Given the description of an element on the screen output the (x, y) to click on. 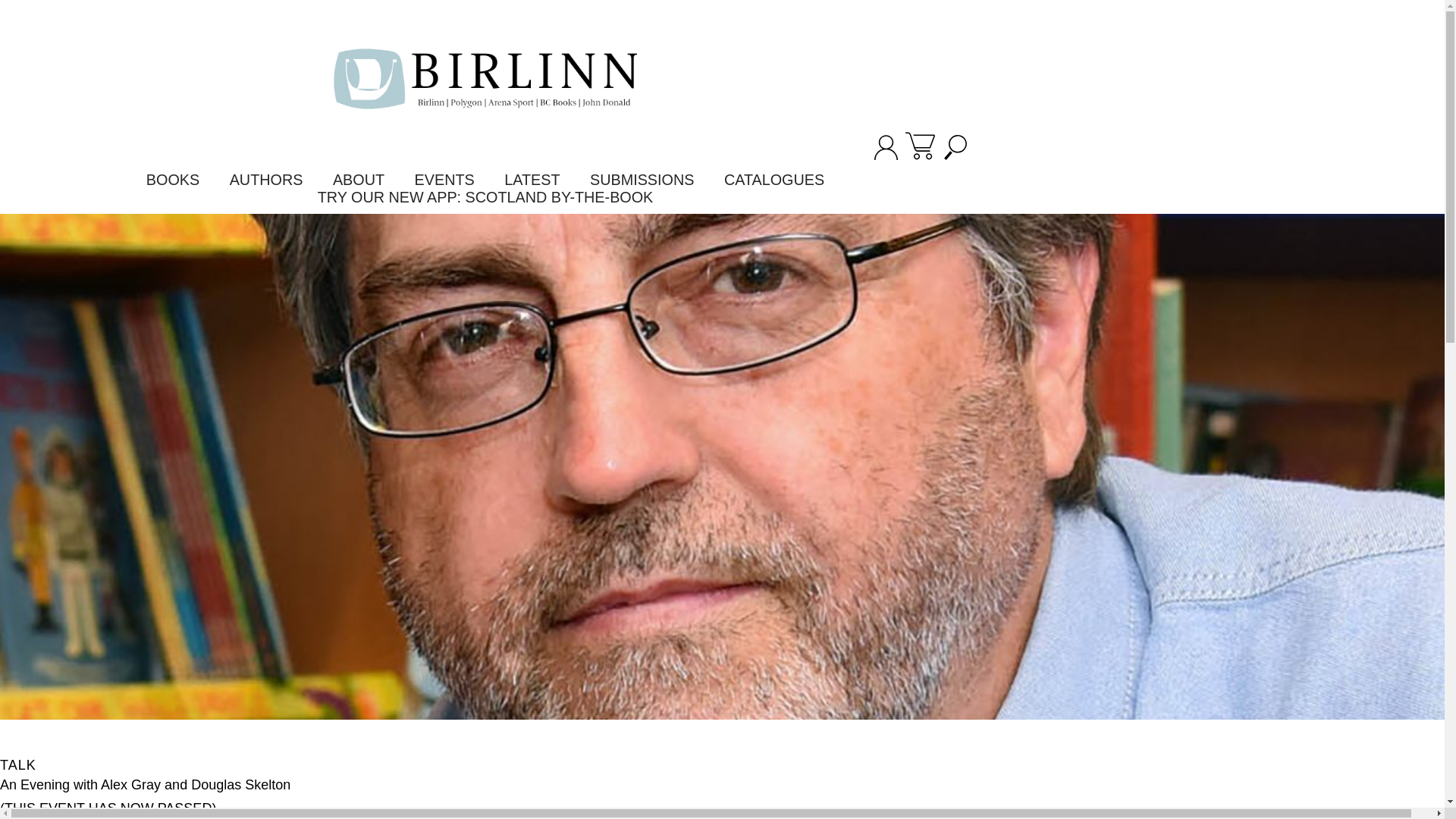
View your shopping cart (919, 147)
BOOKS (172, 181)
Login (885, 155)
